Given the description of an element on the screen output the (x, y) to click on. 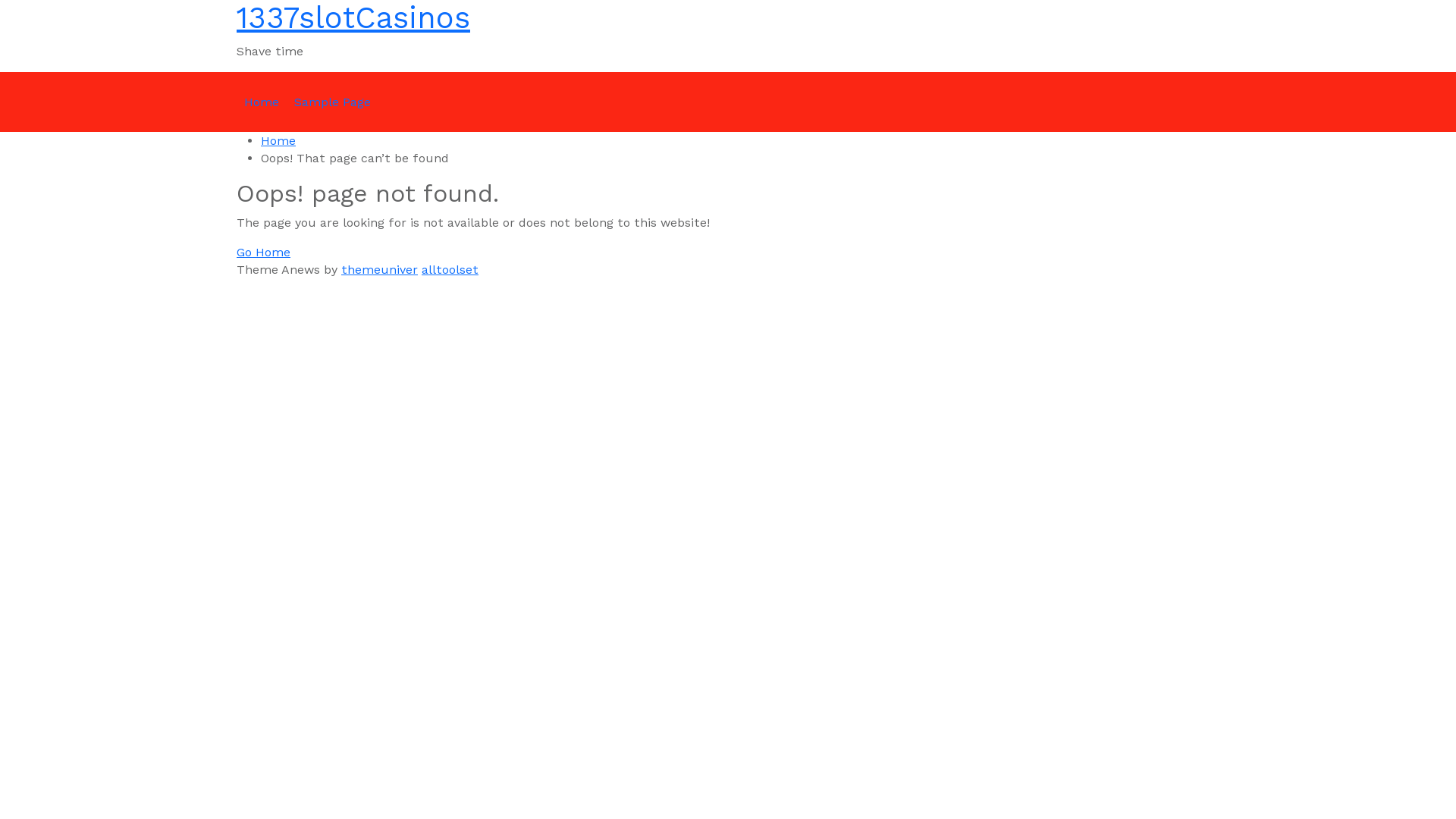
Sample Page Element type: text (332, 101)
Go Home Element type: text (263, 251)
Home Element type: text (277, 140)
Home Element type: text (261, 101)
themeuniver Element type: text (379, 269)
alltoolset Element type: text (449, 269)
1337slotCasinos Element type: text (353, 17)
